Given the description of an element on the screen output the (x, y) to click on. 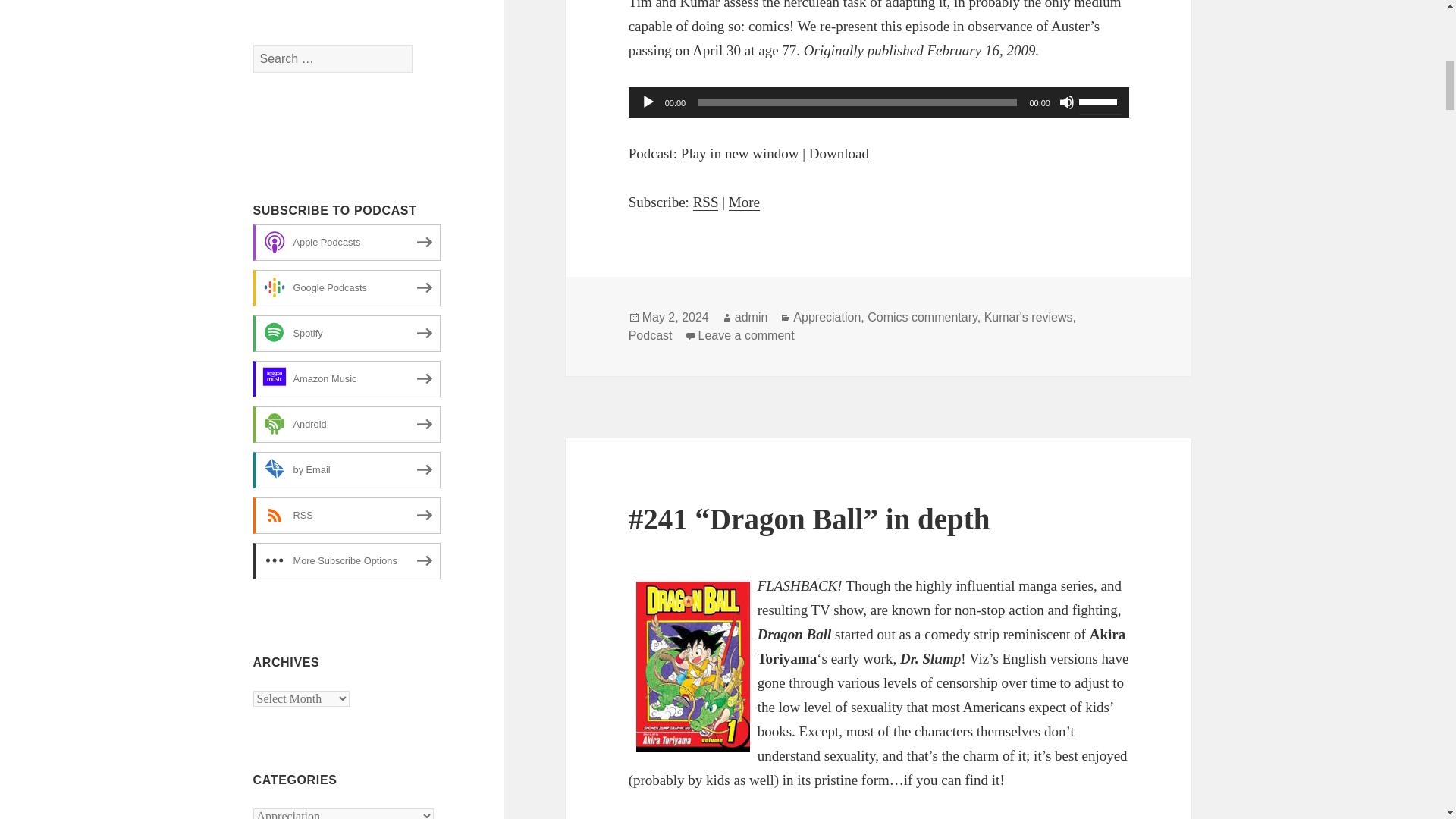
Apple Podcasts (347, 242)
RSS (347, 515)
Download (839, 153)
Play in new window (740, 153)
Dr. Slump (929, 658)
Spotify (347, 333)
Subscribe on Google Podcasts (347, 288)
More (744, 202)
Download (839, 153)
Dragon Ball (692, 666)
Subscribe on Amazon Music (347, 379)
by Email (347, 470)
Subscribe on Apple Podcasts (347, 242)
